Given the description of an element on the screen output the (x, y) to click on. 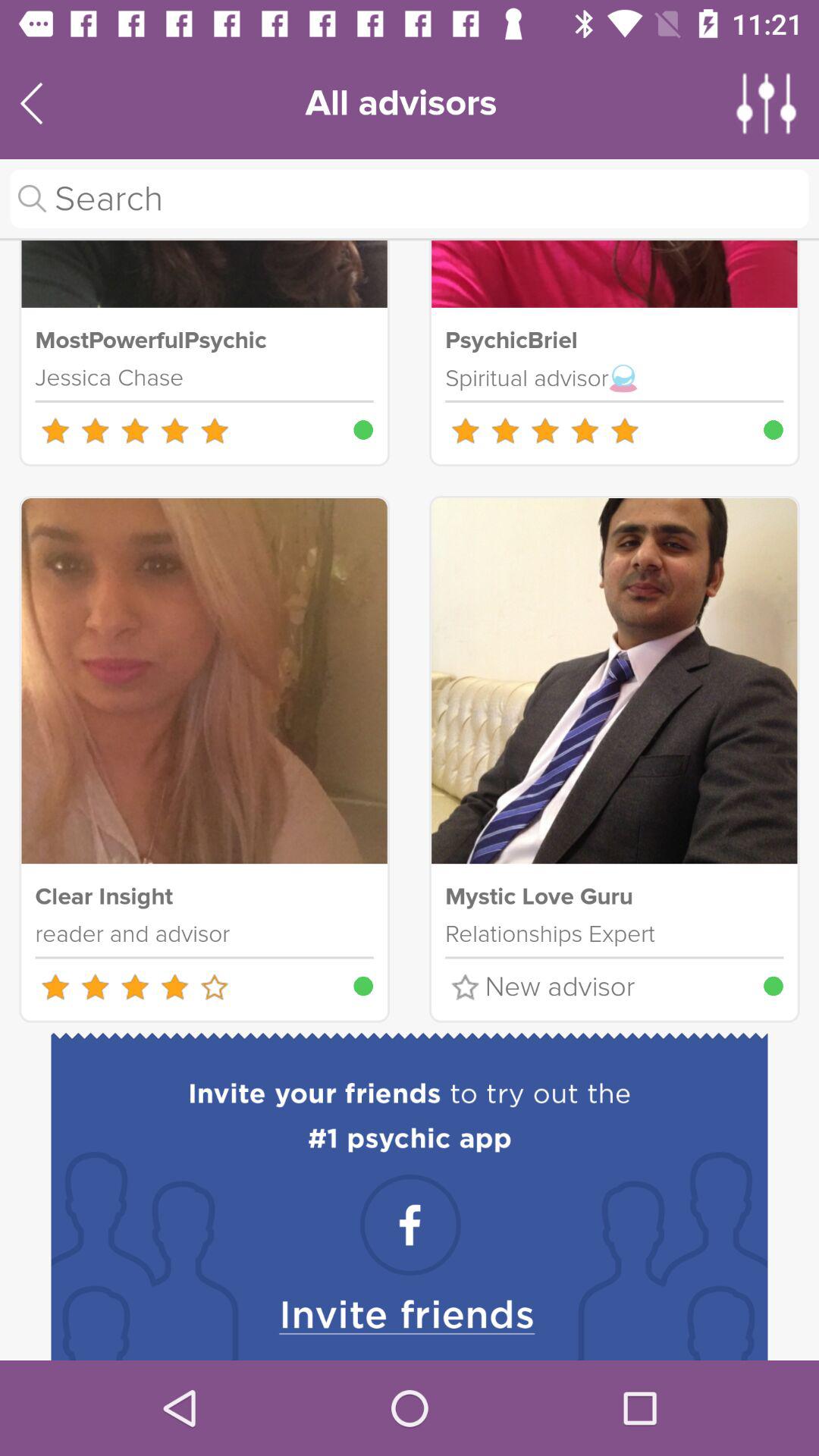
search advisers (409, 198)
